Given the description of an element on the screen output the (x, y) to click on. 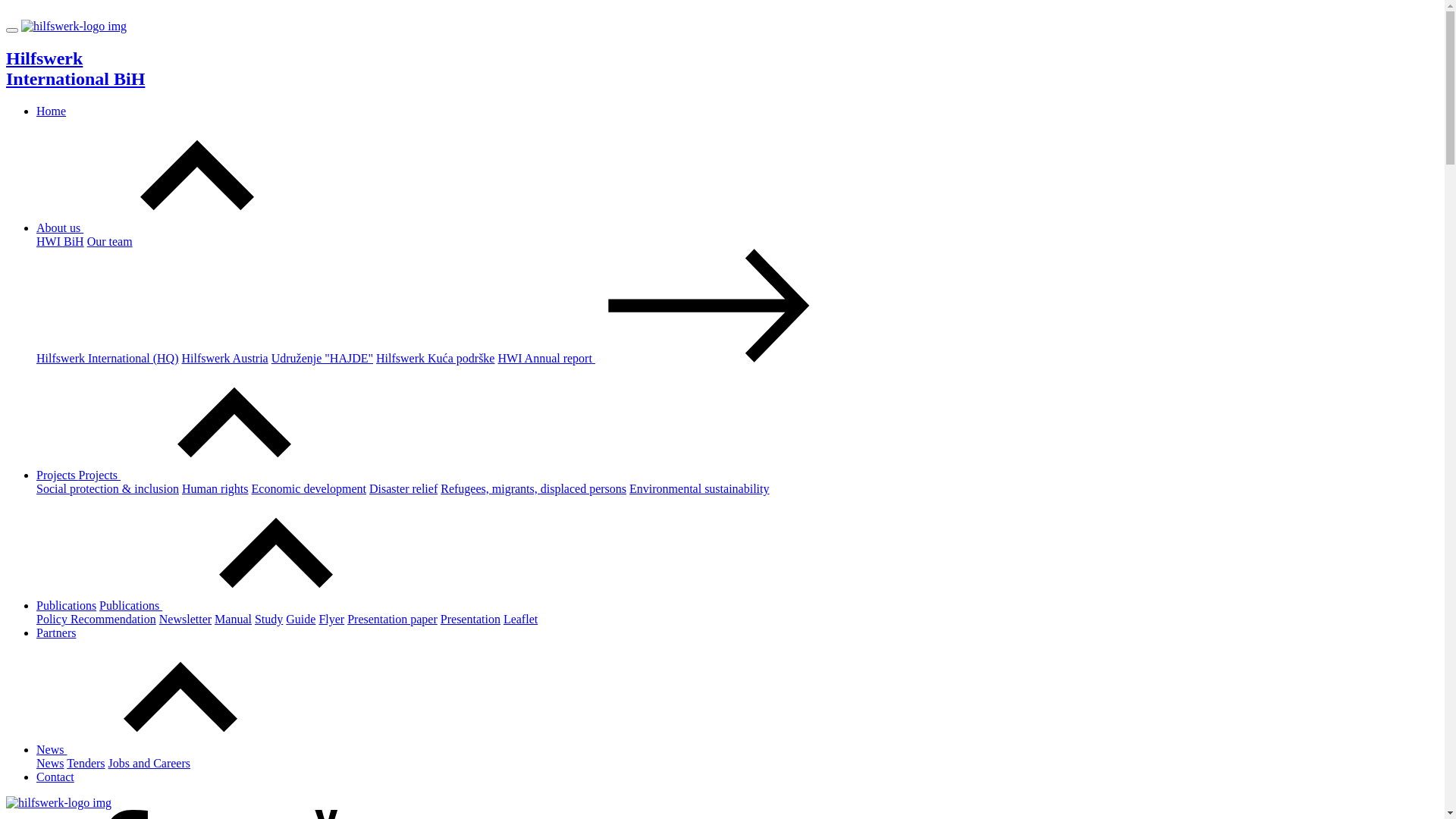
Study Element type: text (268, 618)
Tenders Element type: text (85, 762)
Partners Element type: text (55, 632)
Projects Element type: text (213, 474)
Presentation Element type: text (470, 618)
Presentation paper Element type: text (392, 618)
Guide Element type: text (300, 618)
Our team Element type: text (109, 241)
Disaster relief Element type: text (403, 488)
Manual Element type: text (232, 618)
Publications Element type: text (66, 605)
HWI Annual report Element type: text (659, 357)
Social protection & inclusion Element type: text (107, 488)
Hilfswerk Austria Element type: text (225, 357)
HWI BiH Element type: text (60, 241)
Home Element type: text (50, 110)
Projects Element type: text (57, 474)
About us Element type: text (173, 227)
Economic development Element type: text (309, 488)
News Element type: text (49, 762)
Policy Recommendation Element type: text (96, 618)
News Element type: text (165, 749)
Environmental sustainability Element type: text (698, 488)
Flyer Element type: text (331, 618)
Newsletter Element type: text (185, 618)
Human rights Element type: text (215, 488)
Hilfswerk
International BiH Element type: text (722, 68)
Hilfswerk International (HQ) Element type: text (107, 357)
Publications Element type: text (244, 605)
Leaflet Element type: text (520, 618)
Refugees, migrants, displaced persons Element type: text (533, 488)
Jobs and Careers Element type: text (149, 762)
Contact Element type: text (55, 776)
